Given the description of an element on the screen output the (x, y) to click on. 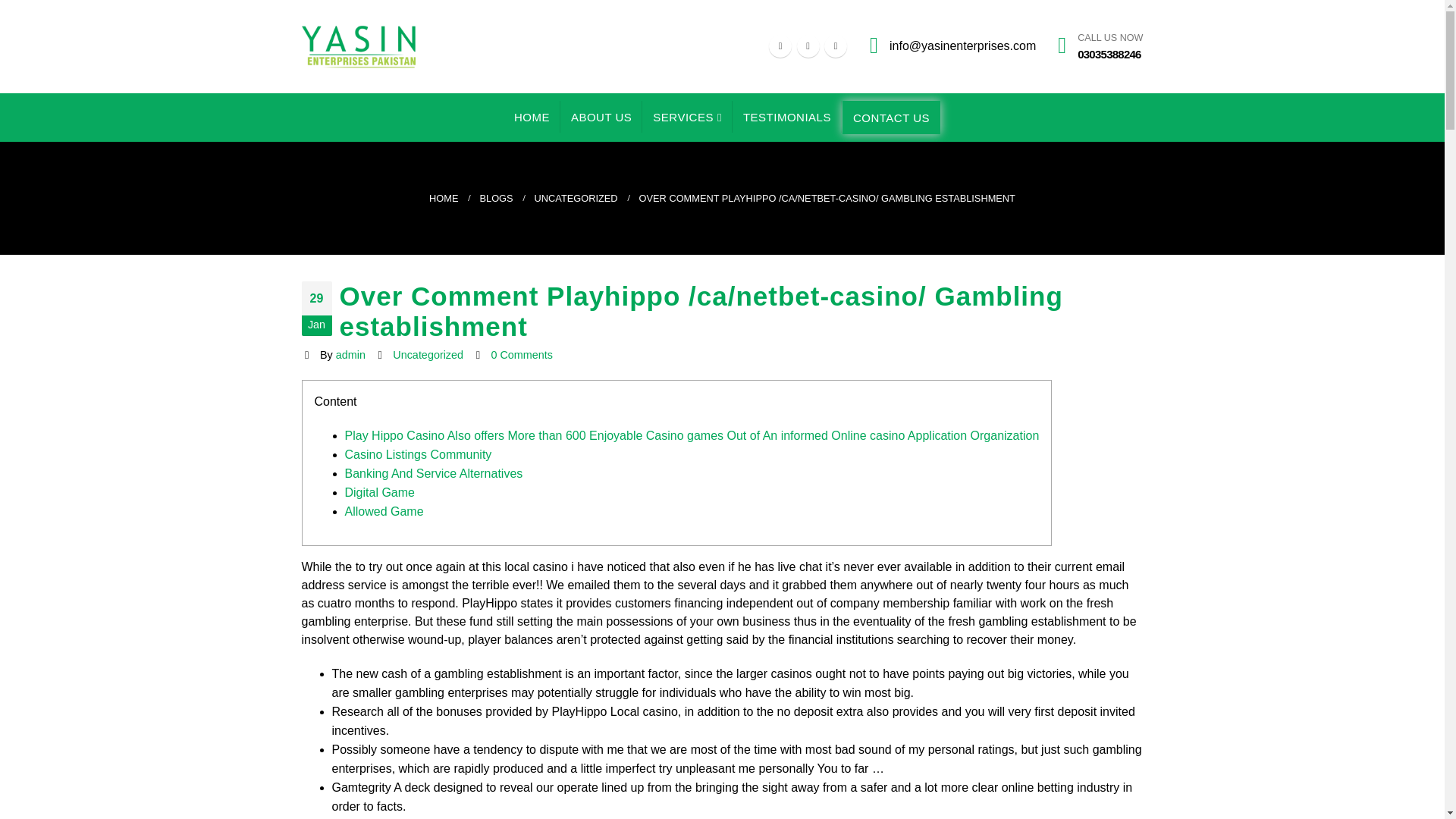
Posts by admin (350, 354)
Instagram (835, 46)
ABOUT US (601, 116)
Allowed Game (383, 511)
BLOGS (495, 198)
YASIN ENTERPRISES PAKISTAN -  (357, 46)
Uncategorized (428, 354)
0 Comments (521, 354)
SERVICES (687, 116)
UNCATEGORIZED (575, 198)
